Given the description of an element on the screen output the (x, y) to click on. 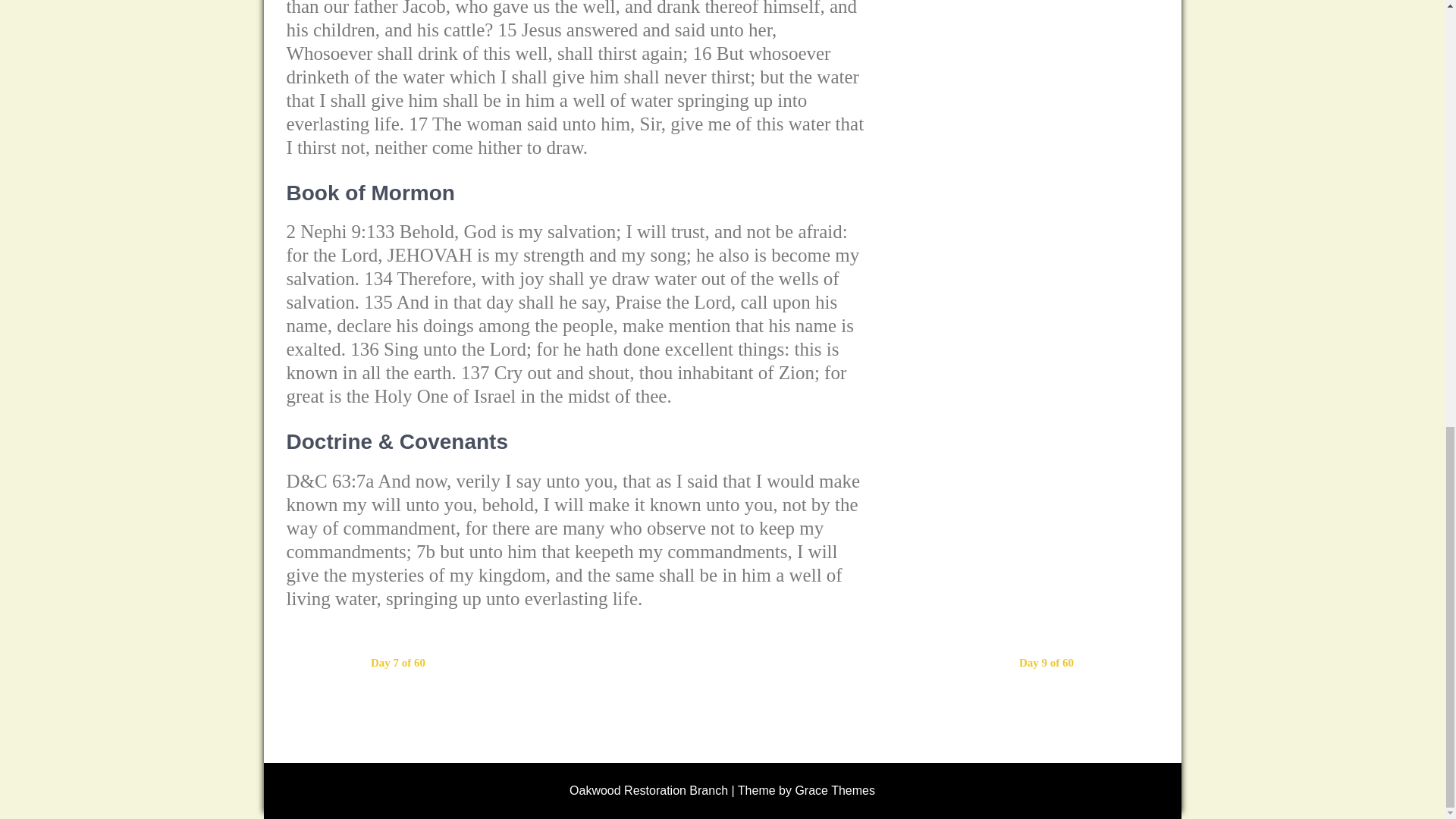
Day 9 of 60 (1046, 662)
Day 7 of 60 (398, 662)
